Given the description of an element on the screen output the (x, y) to click on. 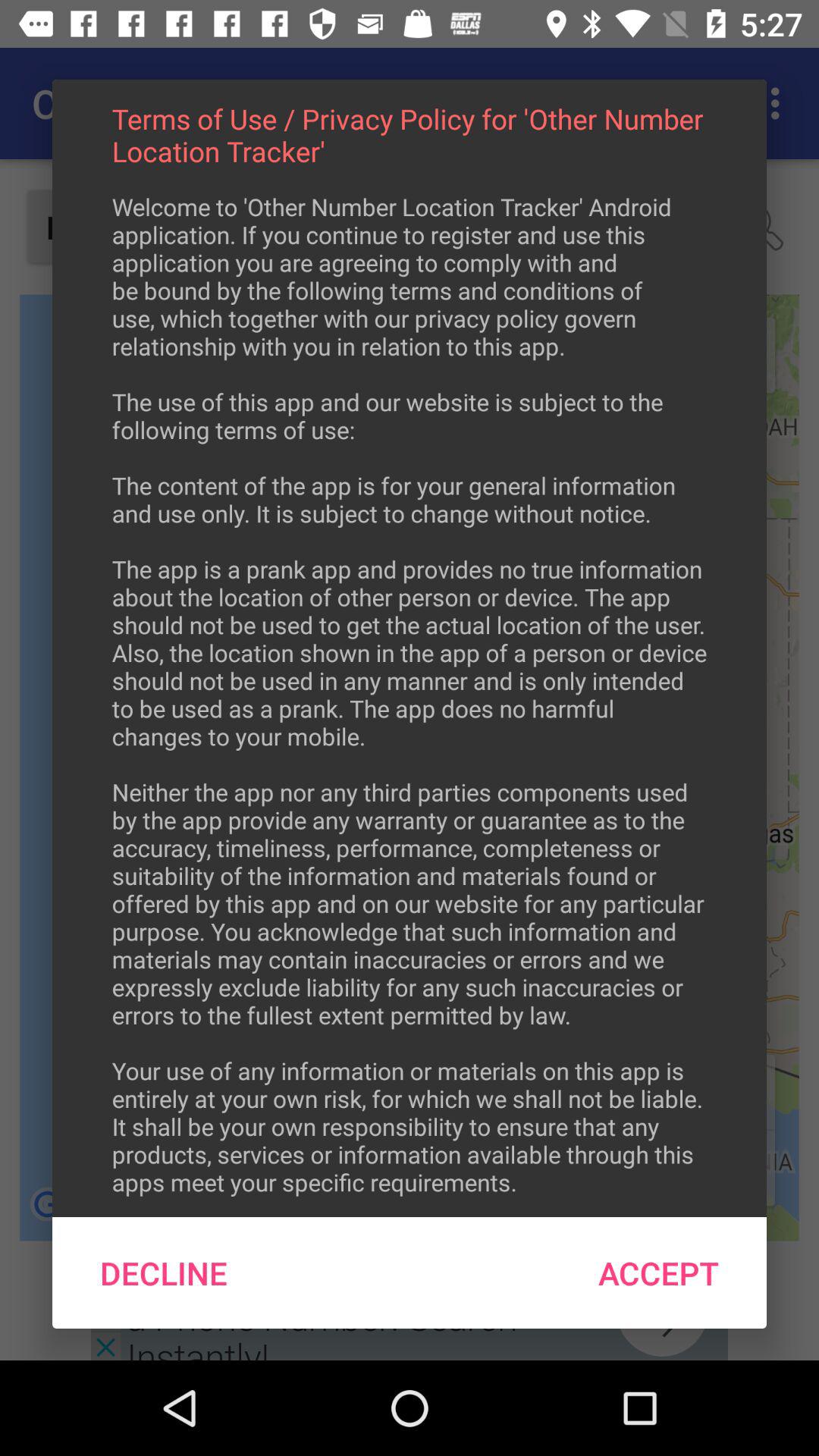
choose item below the welcome to other icon (658, 1272)
